Given the description of an element on the screen output the (x, y) to click on. 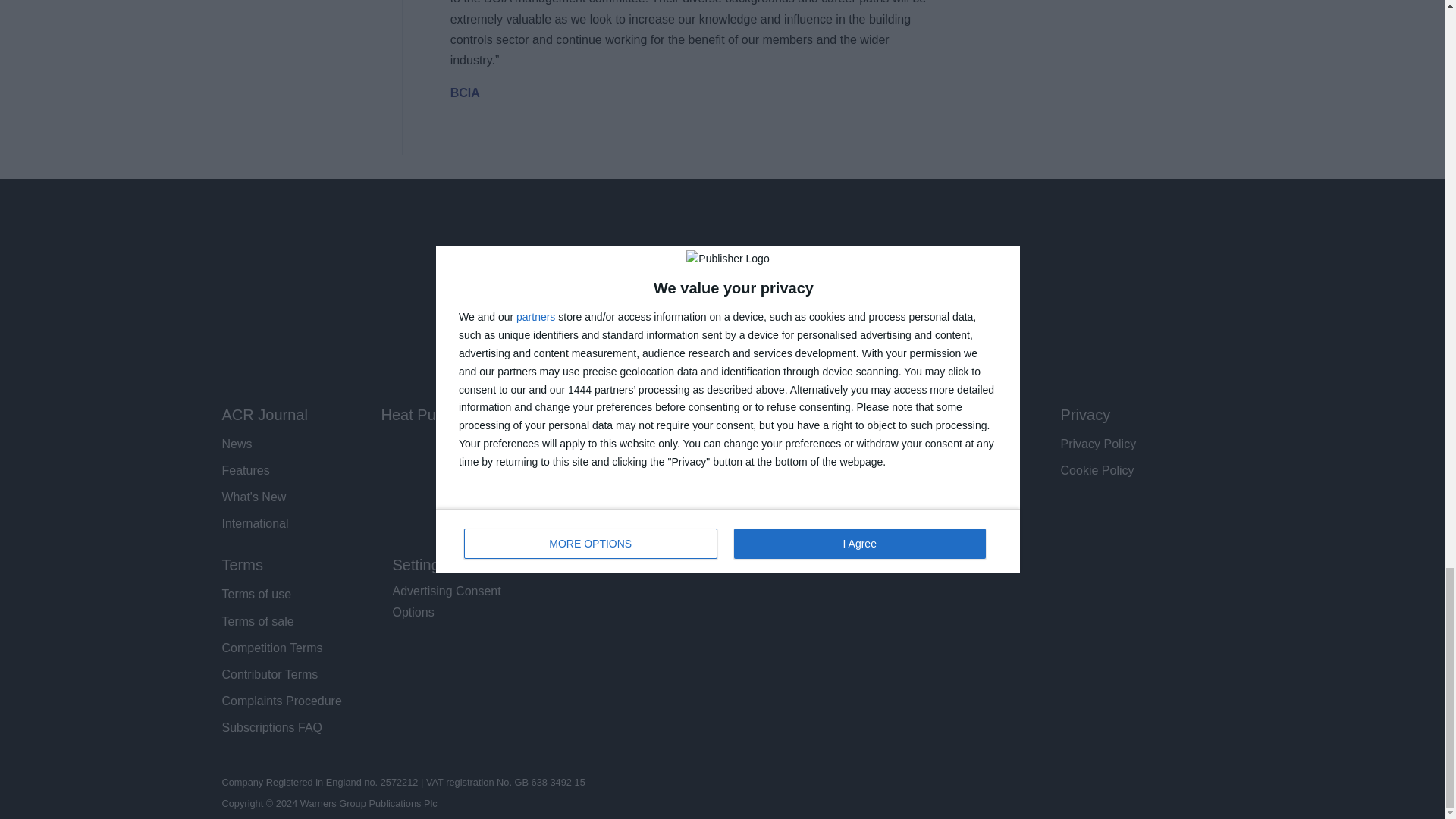
View your Advertising Consent options for this website (446, 601)
